Given the description of an element on the screen output the (x, y) to click on. 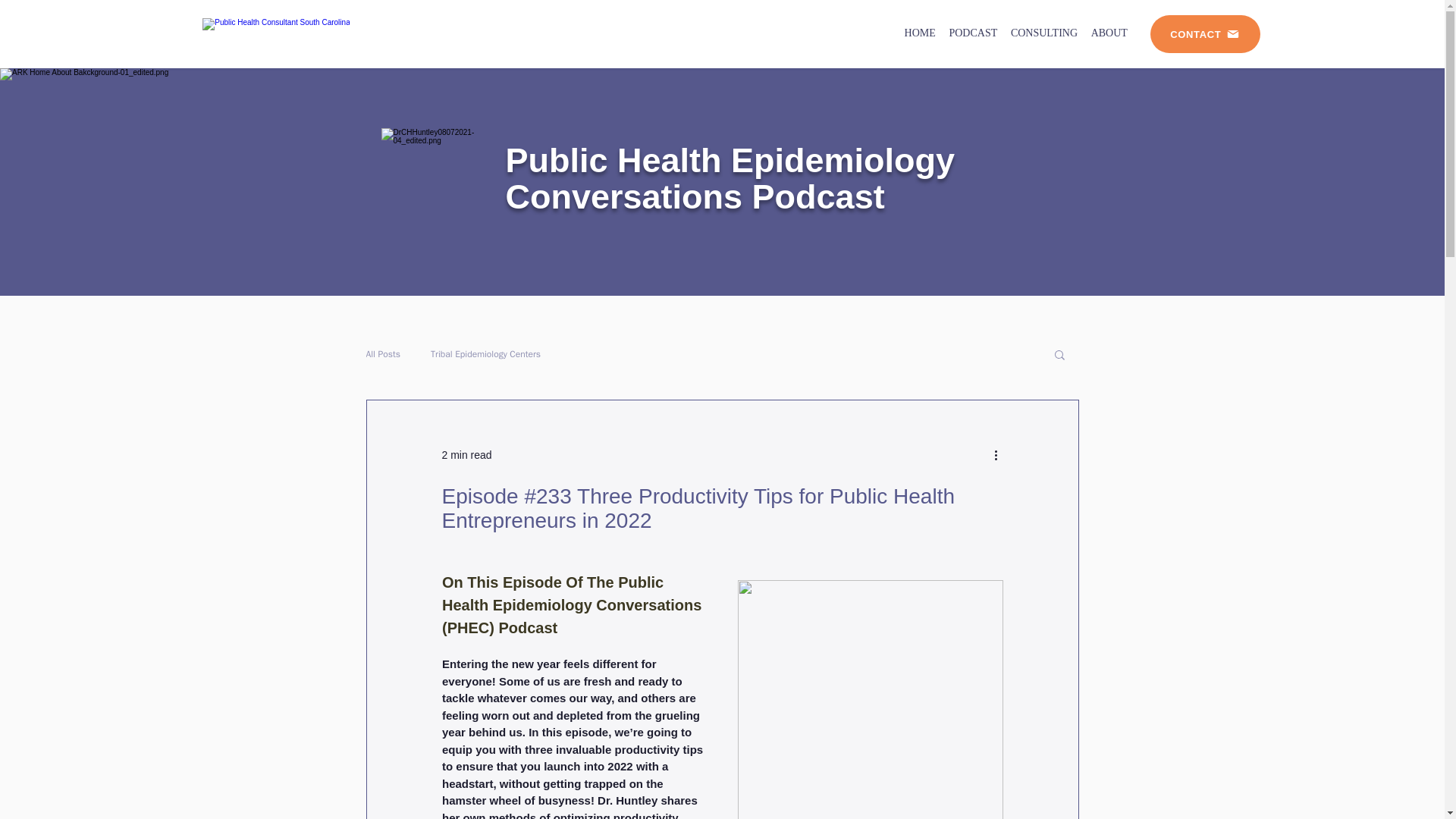
Dr CH Huntley (300, 33)
HOME (1016, 32)
CONTACT (920, 32)
Tribal Epidemiology Centers (1205, 34)
ABOUT (485, 353)
All Posts (1109, 32)
PODCAST (382, 353)
2 min read (973, 32)
CONSULTING (466, 454)
